Given the description of an element on the screen output the (x, y) to click on. 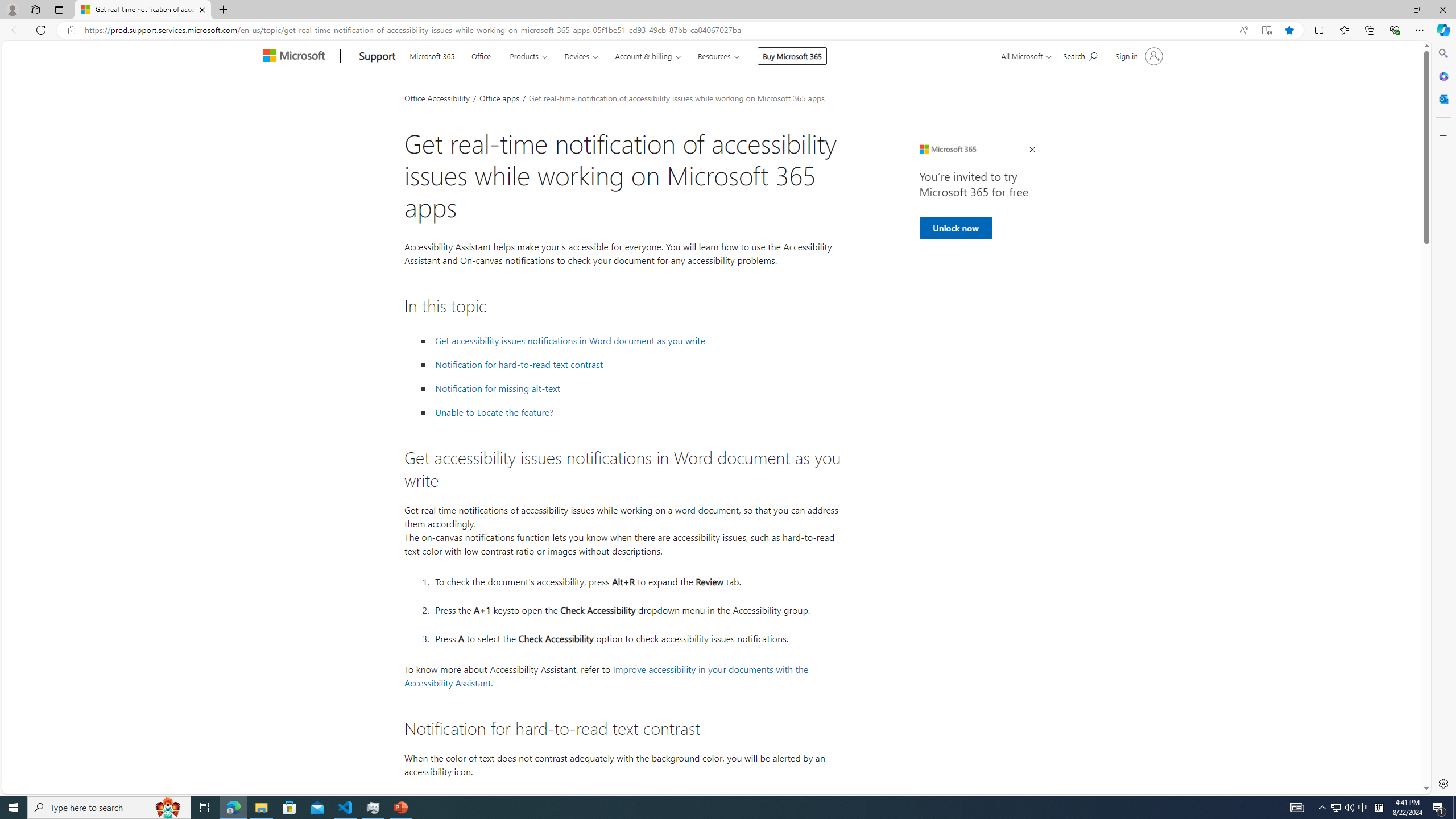
Microsoft 365 (432, 54)
Unlock now (955, 228)
Add this page to favorites (Ctrl+D) (1289, 29)
View site information (70, 29)
Enter Immersive Reader (F9) (1266, 29)
Browser essentials (1394, 29)
Sign in to your account (1137, 55)
Collections (1369, 29)
Personal Profile (12, 9)
Buy Microsoft 365 (792, 55)
